Given the description of an element on the screen output the (x, y) to click on. 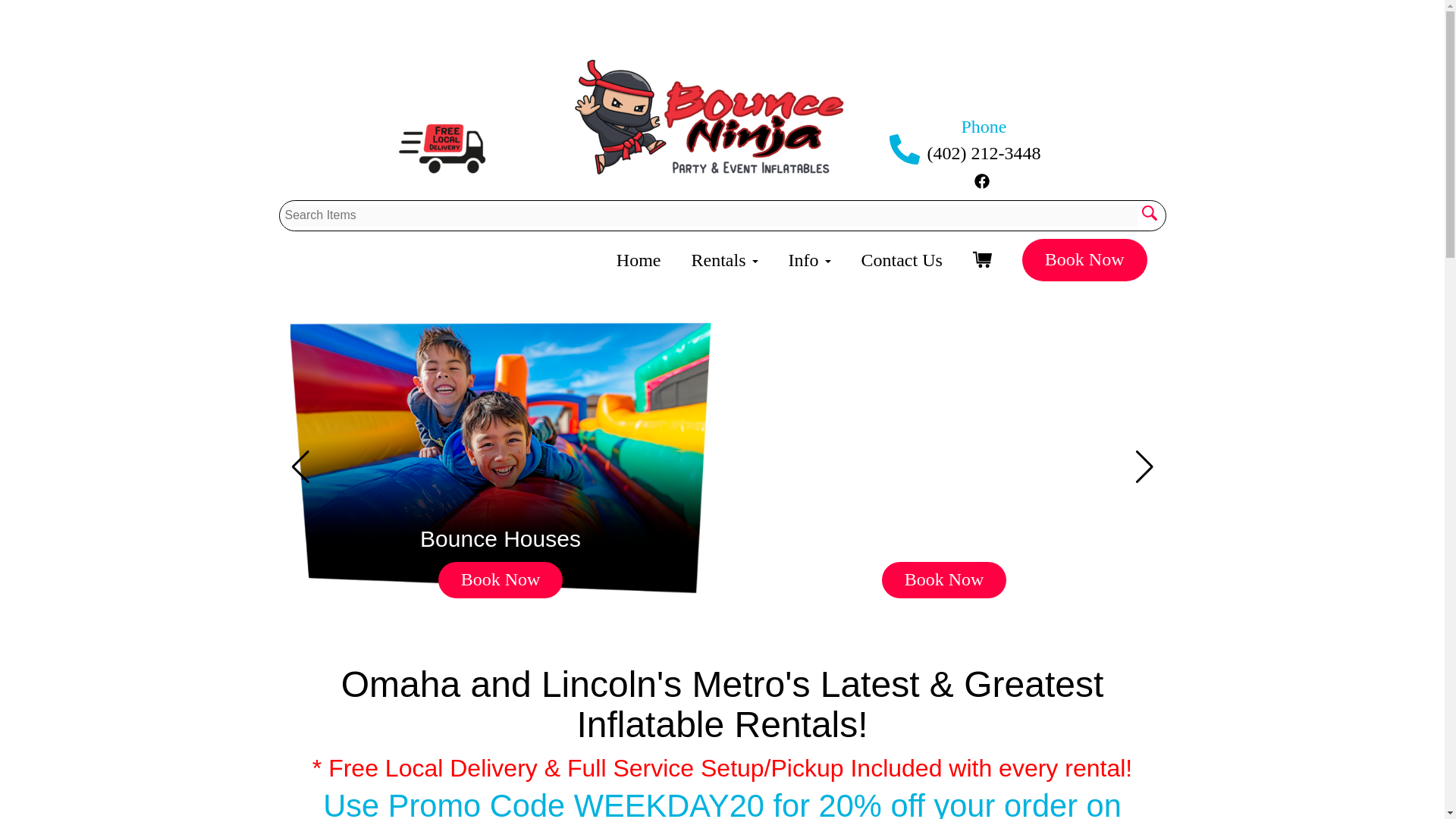
Bounce Ninja Inflatables (615, 107)
Bounce Ninja Inflatables Facebook (982, 177)
Home (638, 259)
Info (810, 259)
Book Now (1084, 260)
Rentals (724, 259)
Contact Us (901, 259)
Book Now (944, 579)
Book Now (500, 579)
